Given the description of an element on the screen output the (x, y) to click on. 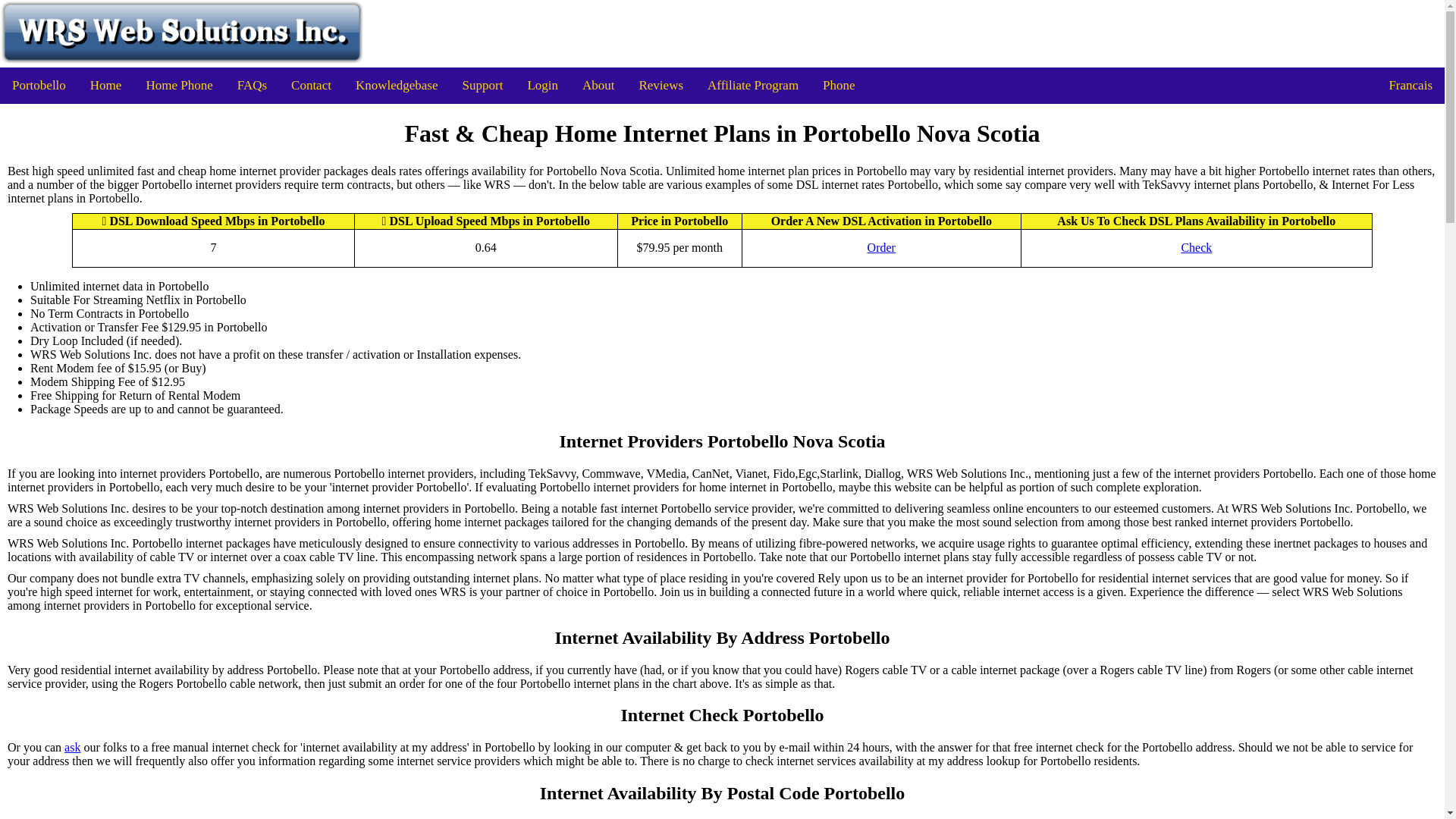
Portobello (39, 85)
Home (105, 85)
Home Phone (178, 85)
Order (881, 247)
ask (72, 747)
Phone (838, 85)
Check (1195, 247)
FAQs (252, 85)
Login (542, 85)
Reviews (660, 85)
